Given the description of an element on the screen output the (x, y) to click on. 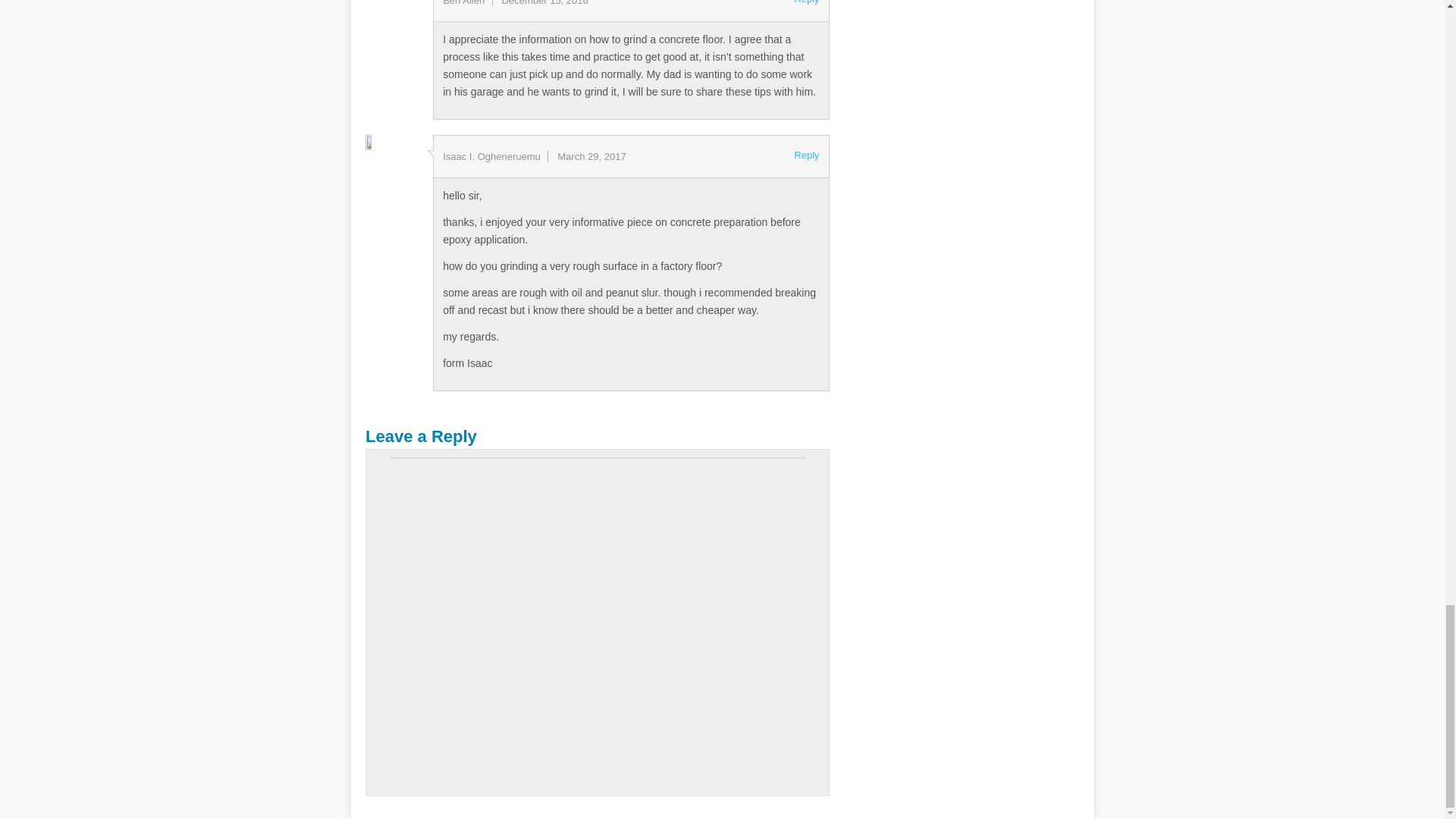
Reply (805, 3)
Reply (805, 155)
